Given the description of an element on the screen output the (x, y) to click on. 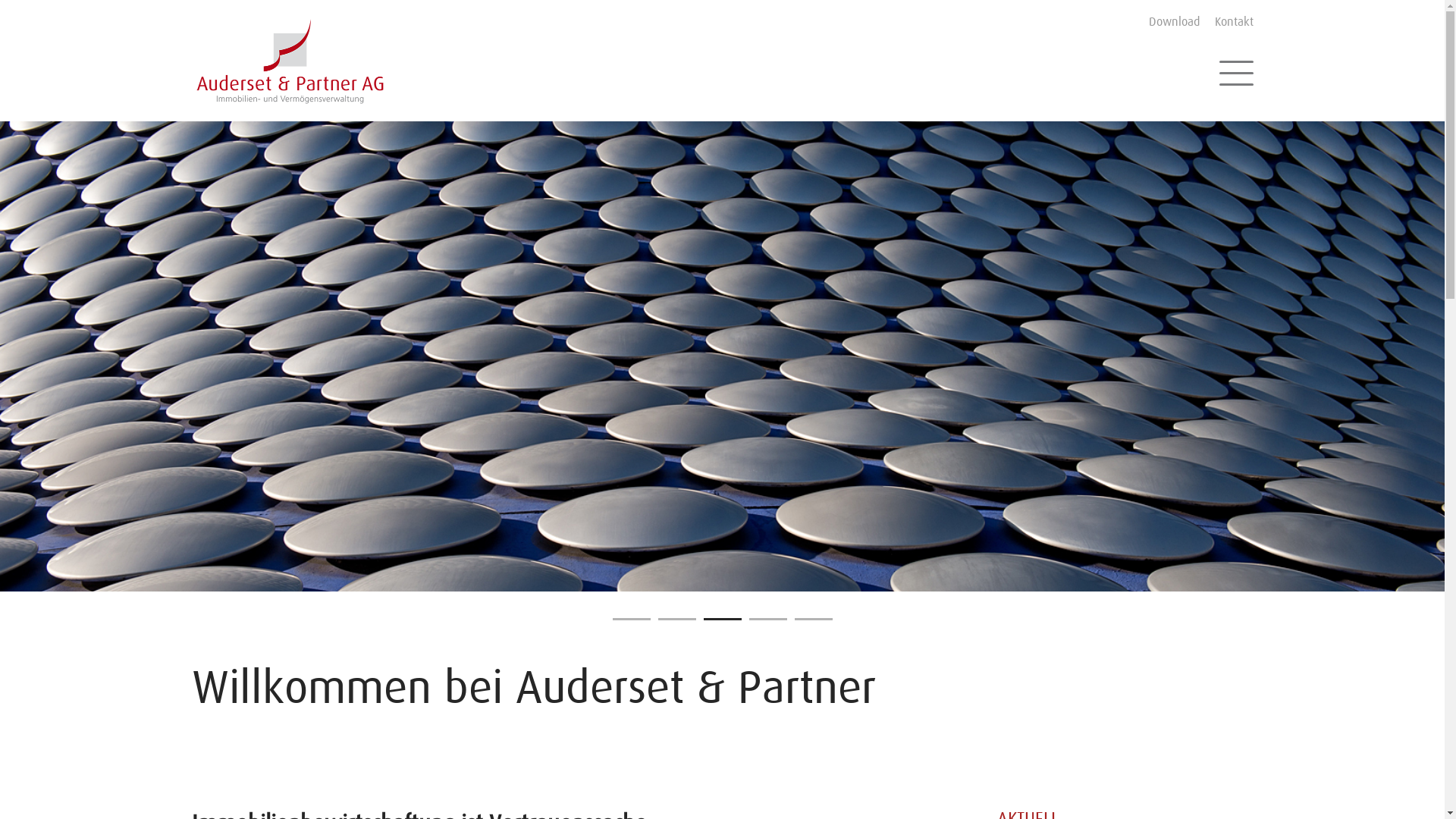
4 Element type: text (768, 619)
3 Element type: text (722, 619)
5 Element type: text (813, 619)
1 Element type: text (631, 619)
Kontakt Element type: text (1233, 21)
Auderset & Partner AG Element type: hover (289, 61)
2 Element type: text (677, 619)
Download Element type: text (1173, 21)
